Given the description of an element on the screen output the (x, y) to click on. 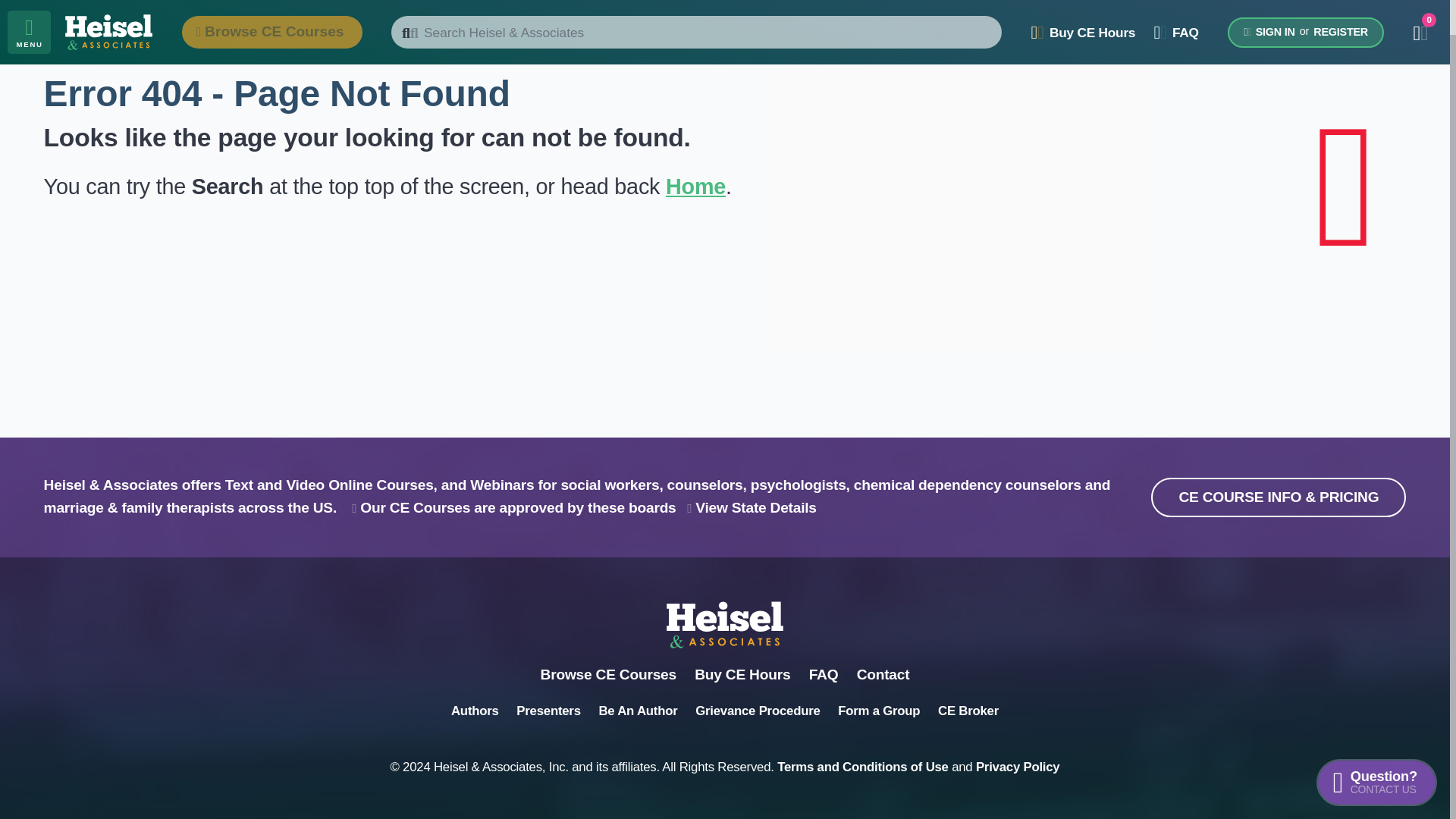
FAQ (823, 674)
Browse CE Courses (608, 674)
Be An Author (637, 710)
Go to the home page (695, 186)
Form a Group (879, 710)
Terms and Conditions of Use (1375, 745)
Browse CE Courses (863, 766)
Contact (608, 674)
Buy CE Hours (883, 674)
